Given the description of an element on the screen output the (x, y) to click on. 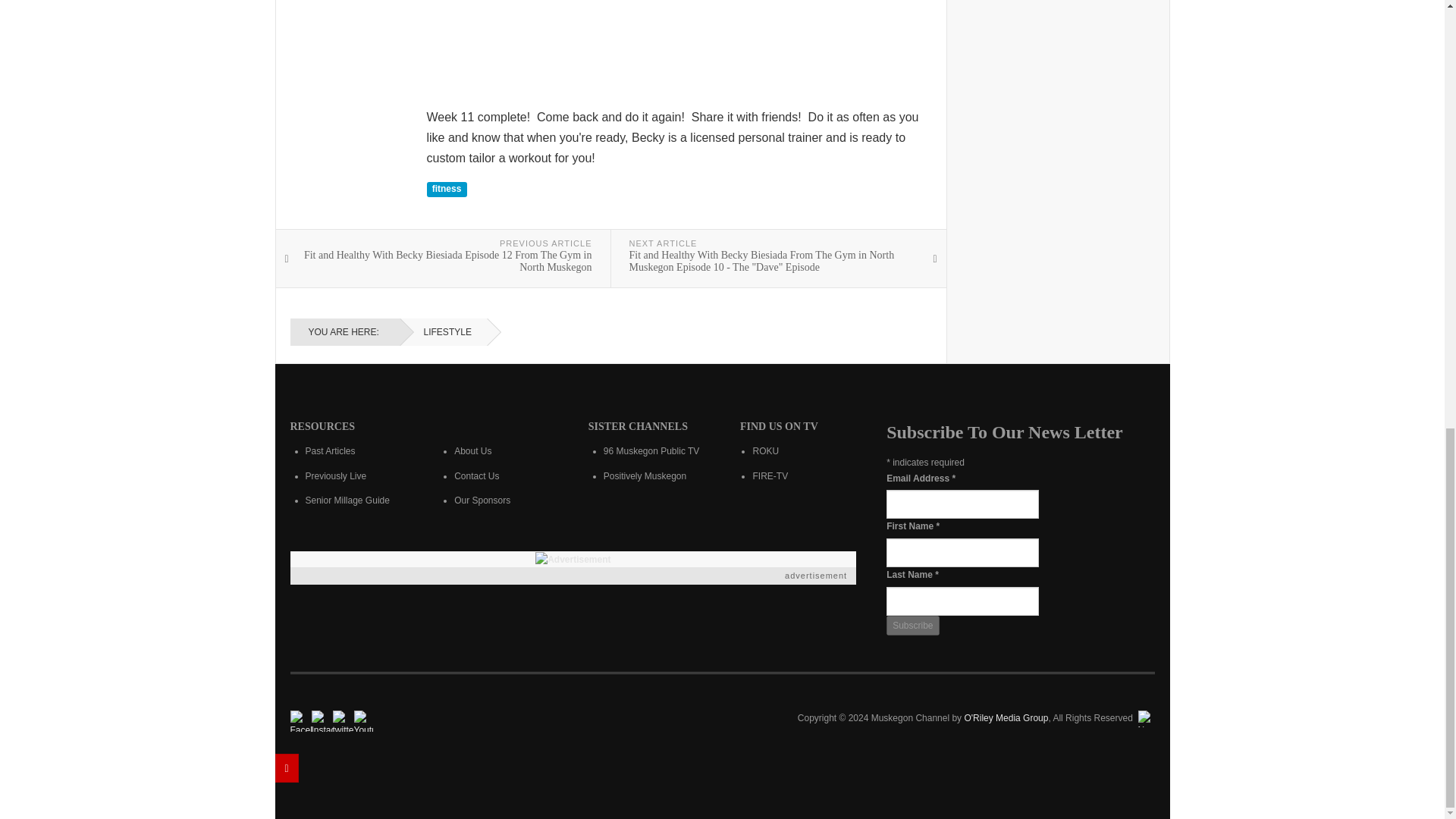
Subscribe (912, 625)
